Given the description of an element on the screen output the (x, y) to click on. 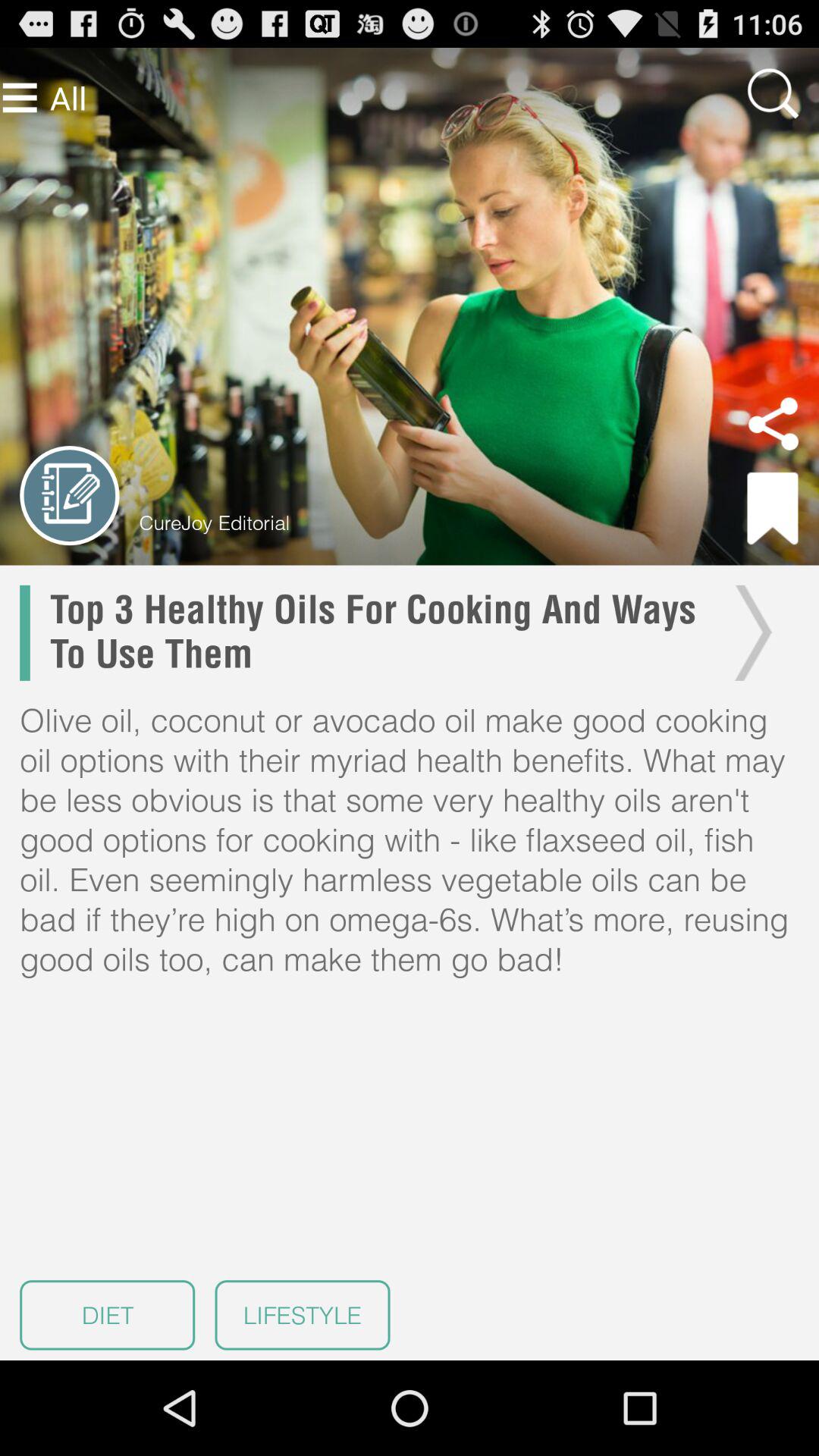
turn on the icon to the right of the top 3 healthy (749, 632)
